Given the description of an element on the screen output the (x, y) to click on. 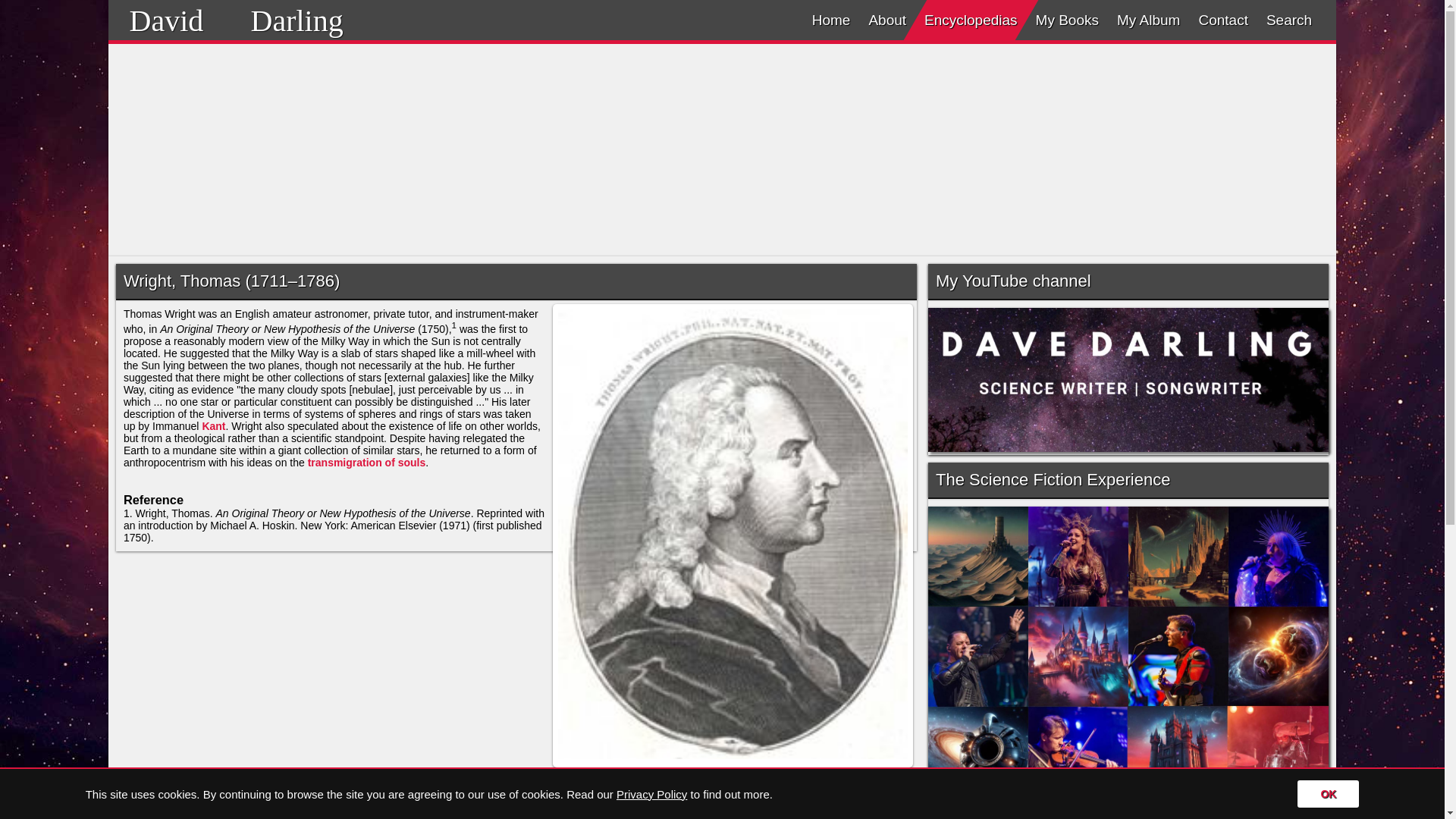
David (166, 20)
transmigration of souls (366, 462)
Kant (213, 426)
My Books (1067, 20)
Darling (296, 20)
Search (1288, 20)
Encyclopedias (970, 20)
About (887, 20)
Contact (1222, 20)
My Album (1148, 20)
Home (831, 20)
